Given the description of an element on the screen output the (x, y) to click on. 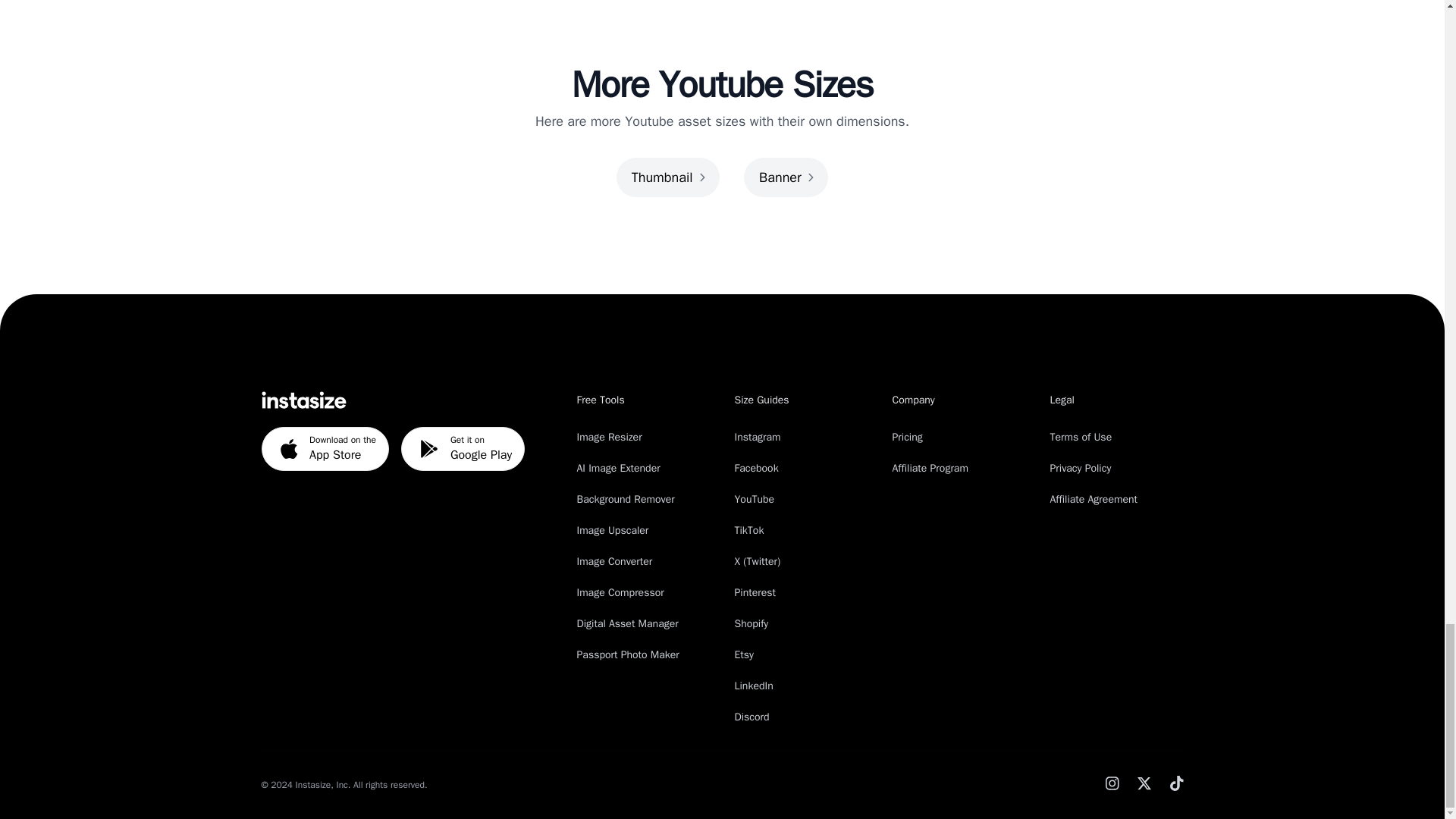
Terms of Use (1080, 436)
Thumbnail (667, 177)
Background Remover (625, 499)
Digital Asset Manager (627, 623)
Etsy (462, 449)
TikTok (742, 654)
Shopify (747, 530)
AI Image Extender (750, 623)
Affiliate Program (325, 449)
Facebook (617, 468)
Image Upscaler (929, 468)
Banner (755, 468)
Privacy Policy (611, 530)
